Given the description of an element on the screen output the (x, y) to click on. 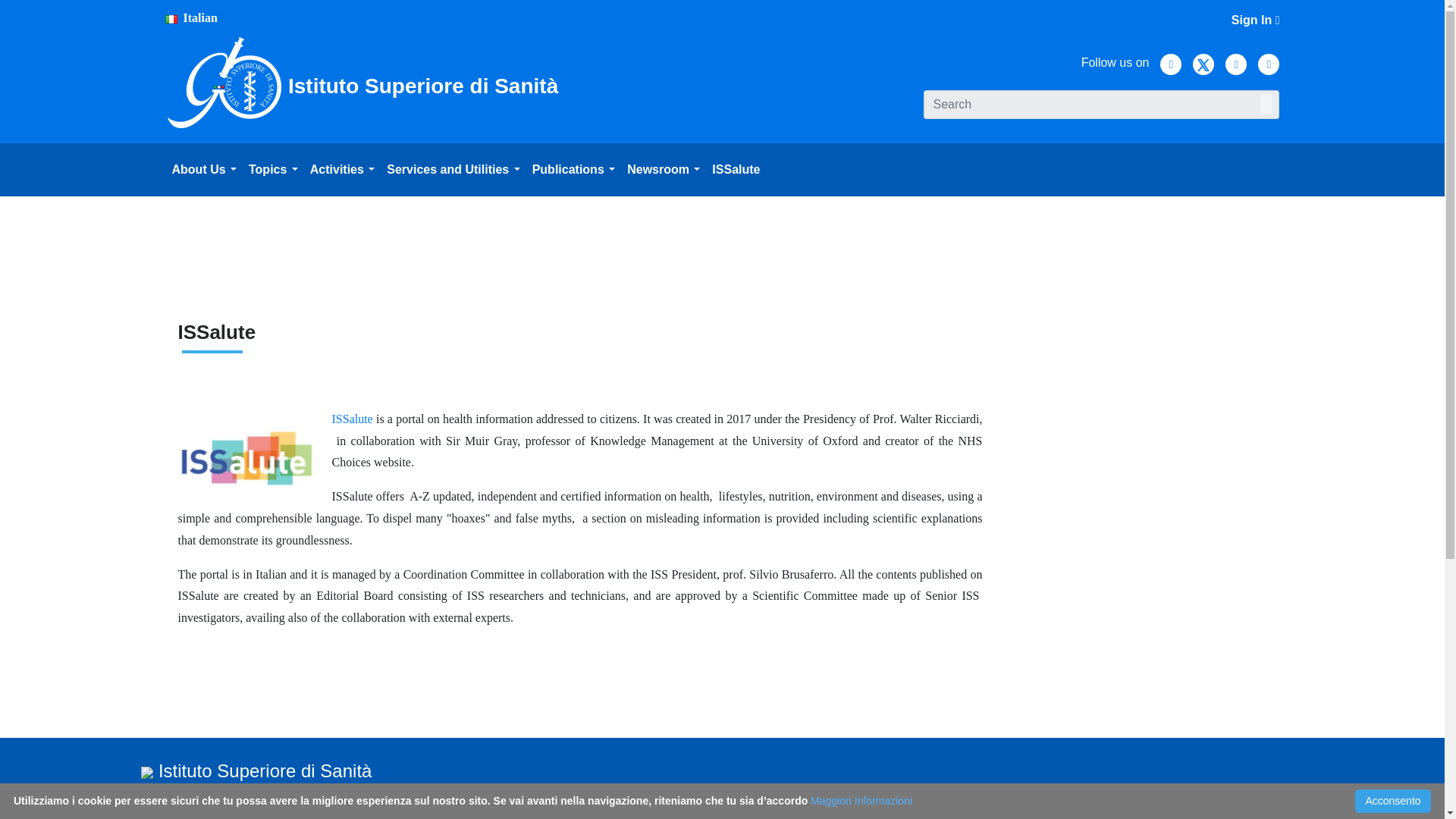
Skip to Content (35, 5)
About Us (204, 169)
Sign In (1255, 19)
Topics (273, 169)
  Italian (190, 17)
